Given the description of an element on the screen output the (x, y) to click on. 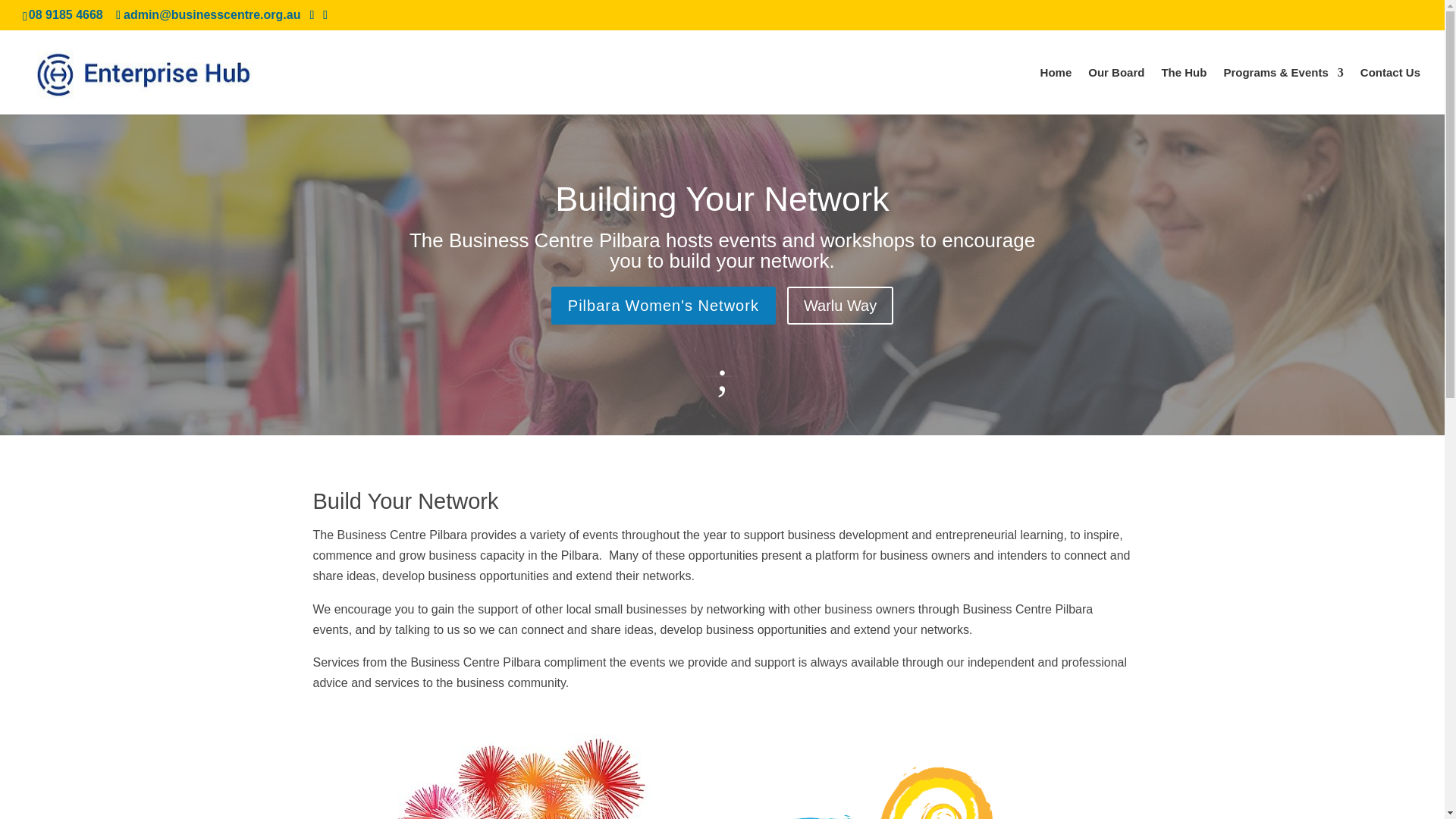
Warlu Way (840, 305)
Contact Us (1390, 90)
The Hub (1183, 90)
Our Board (1115, 90)
Pilbara Women's Network (663, 305)
